Given the description of an element on the screen output the (x, y) to click on. 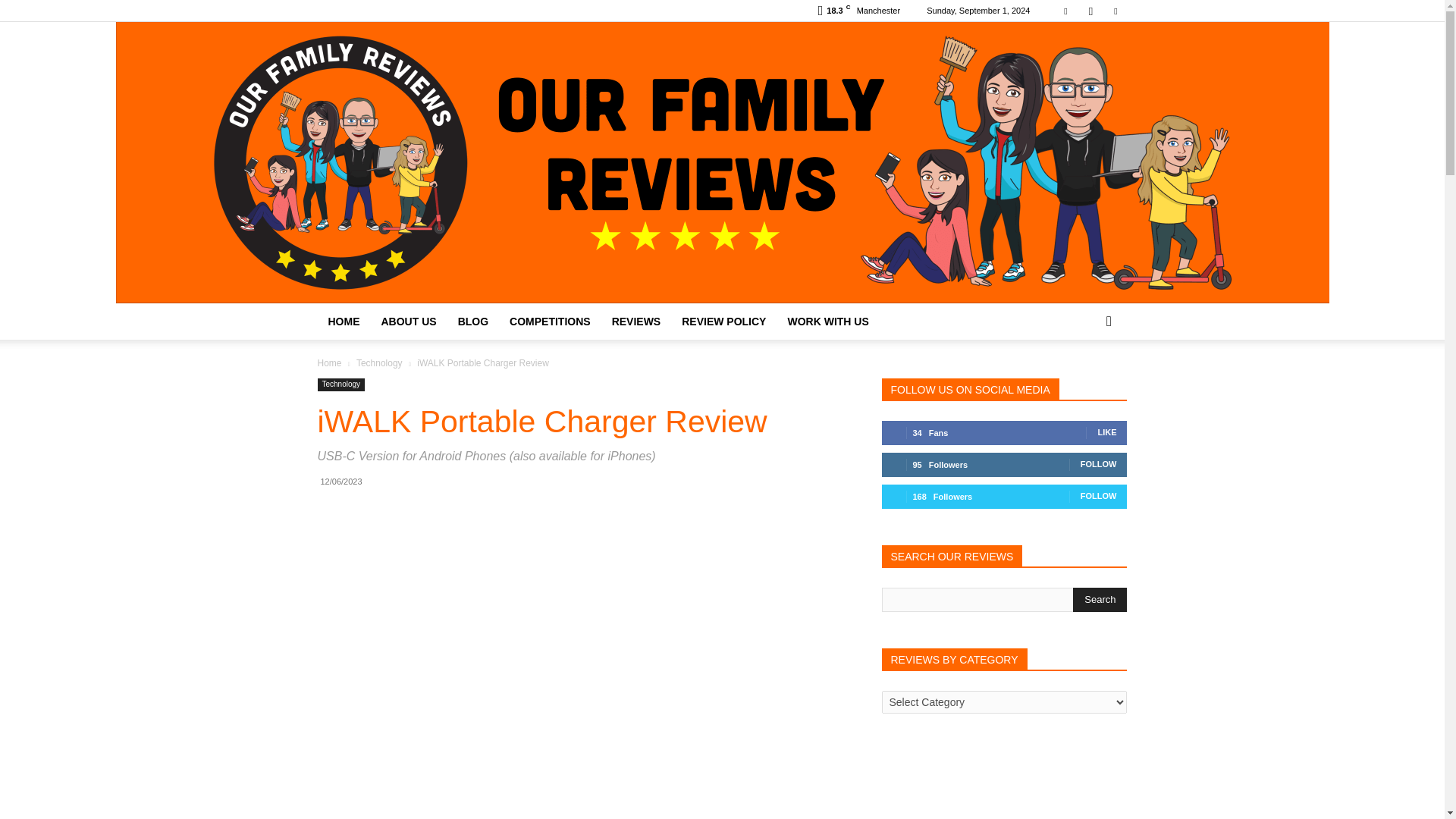
ABOUT US (407, 321)
Twitter (1114, 10)
Facebook (1065, 10)
View all posts in Technology (379, 362)
Search (1099, 599)
COMPETITIONS (550, 321)
BLOG (472, 321)
HOME (343, 321)
Instagram (1090, 10)
